Given the description of an element on the screen output the (x, y) to click on. 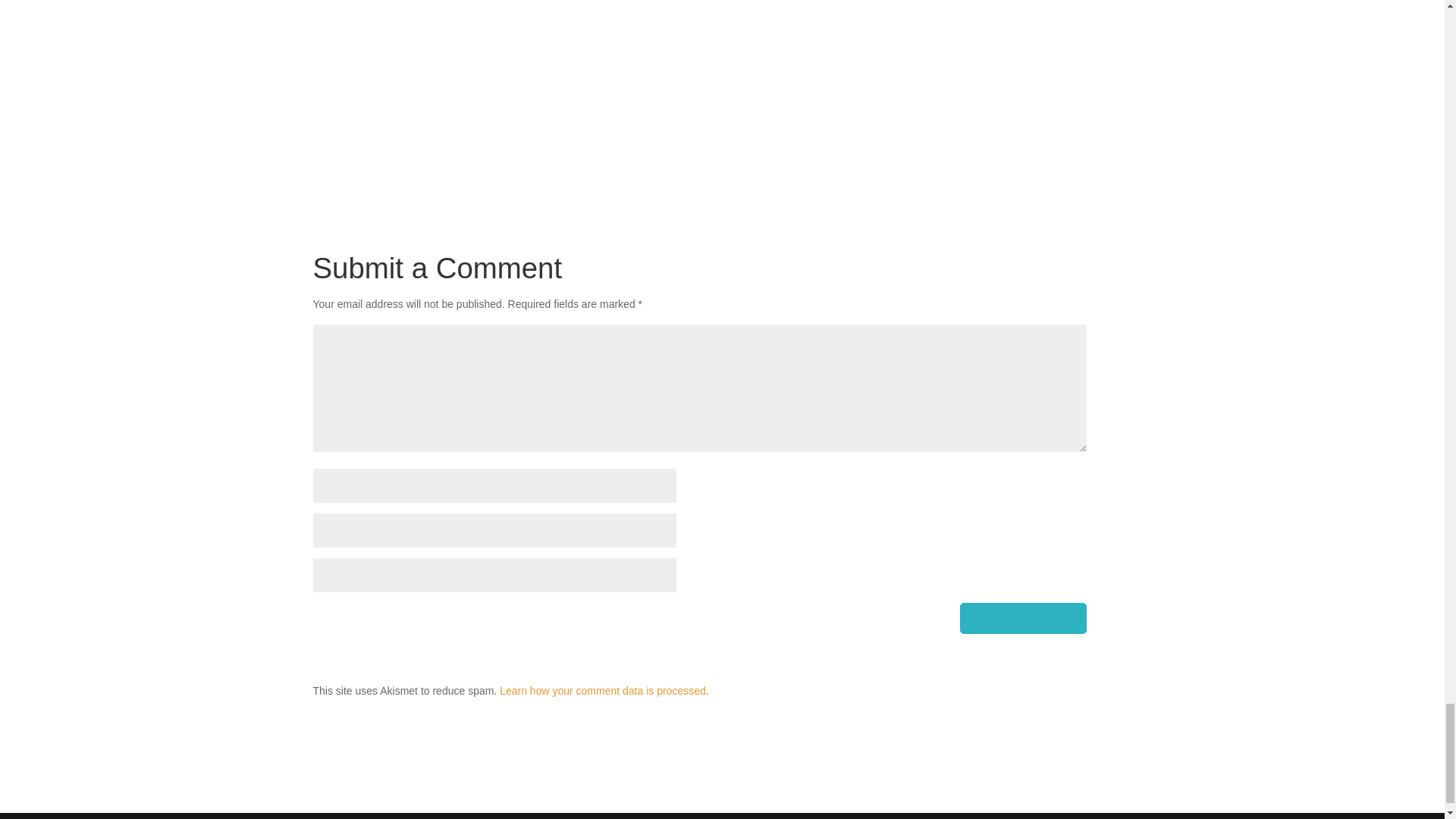
Learn how your comment data is processed (602, 690)
Submit Comment (1022, 617)
Submit Comment (1022, 617)
